Given the description of an element on the screen output the (x, y) to click on. 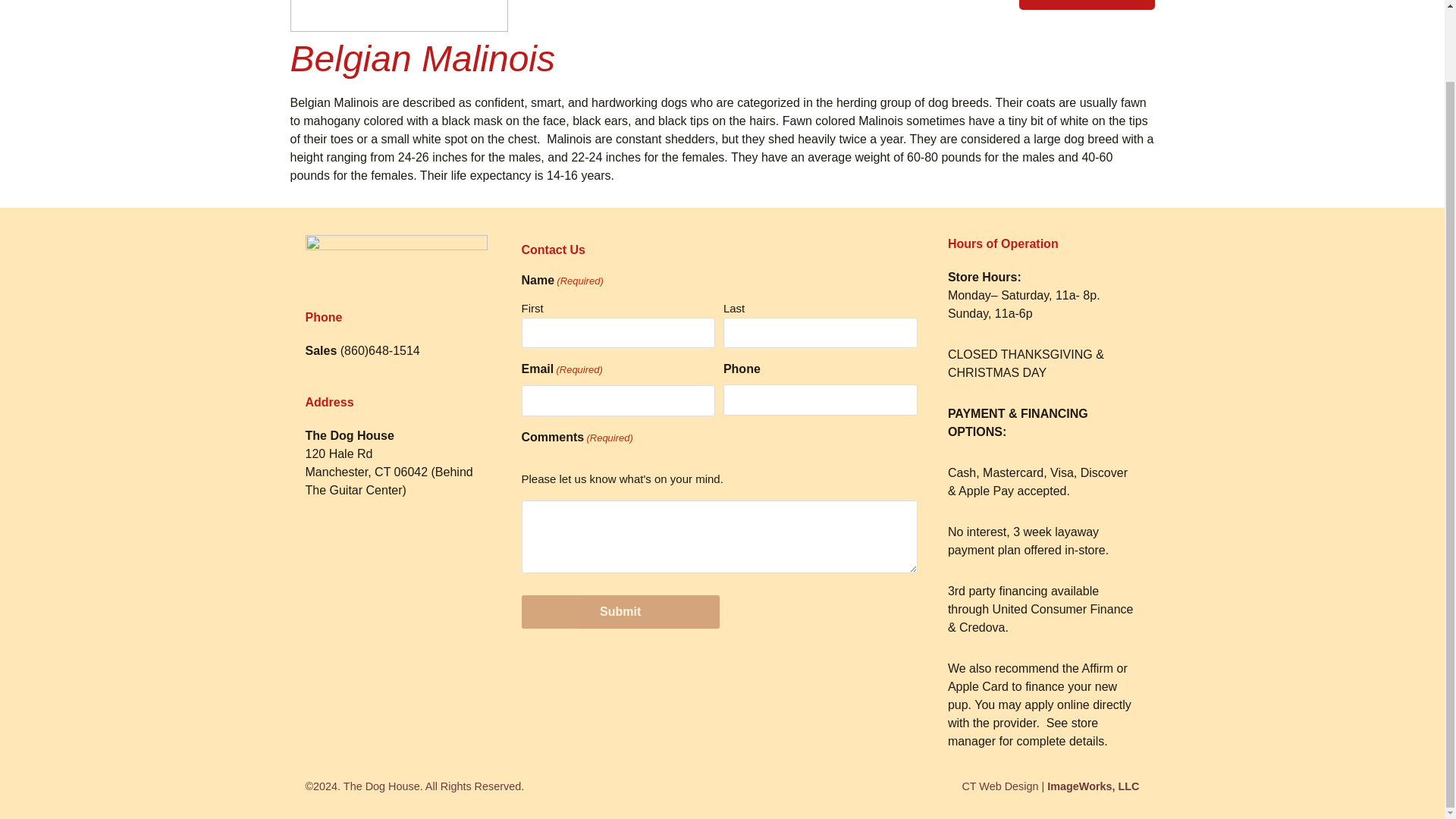
Blog (951, 10)
Apply for Financing (1086, 4)
Submit (620, 611)
Contact (994, 10)
Purebred Pup Requests (780, 10)
Submit (620, 611)
About Us (591, 10)
Learning Center (889, 10)
Available Puppies (668, 10)
ImageWorks, LLC (1092, 786)
